Given the description of an element on the screen output the (x, y) to click on. 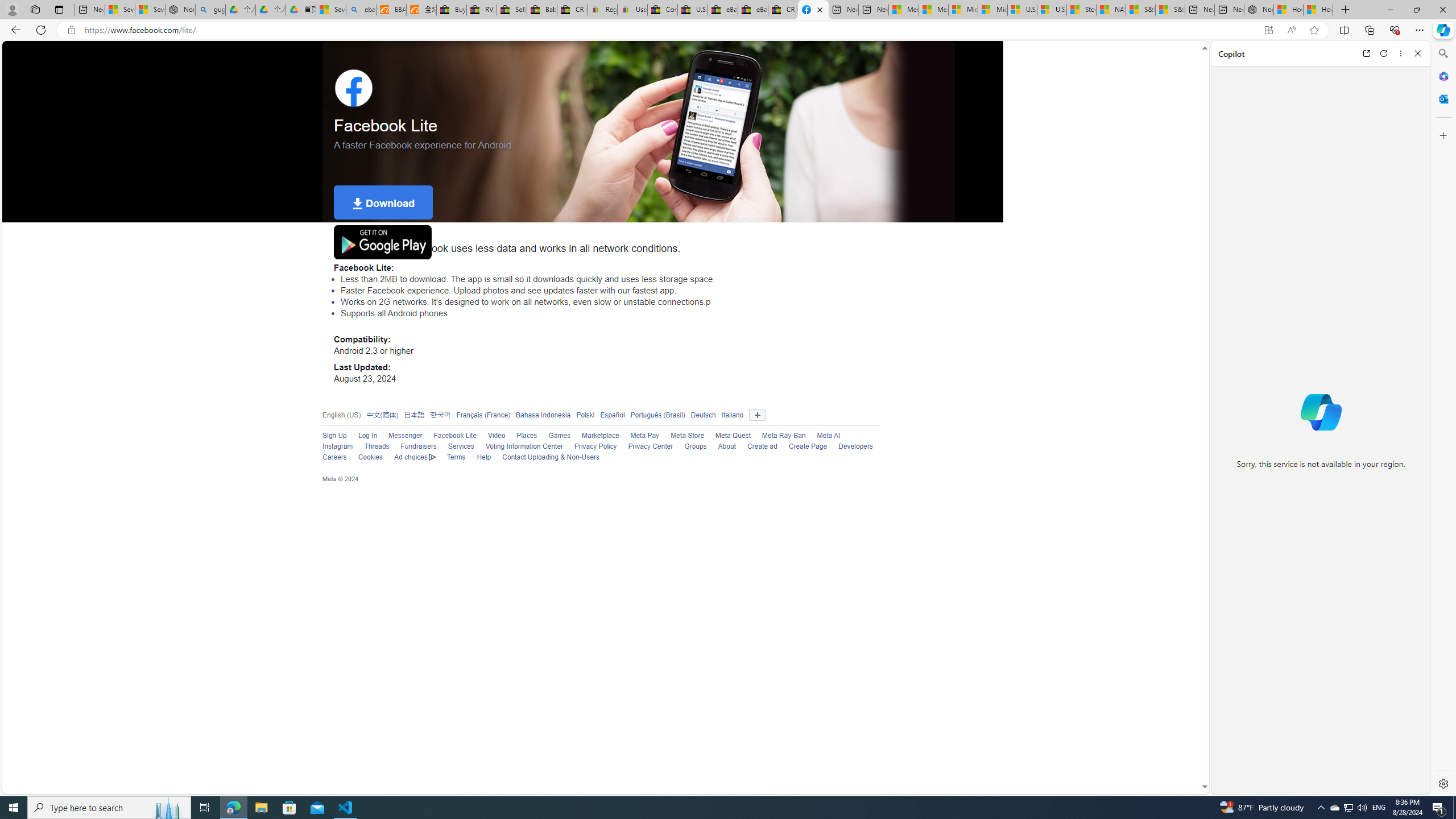
Careers (333, 456)
Threads (377, 446)
Outlook (1442, 98)
Split screen (1344, 29)
Baby Keepsakes & Announcements for sale | eBay (542, 9)
Messenger (399, 436)
Refresh (1383, 53)
Consumer Health Data Privacy Policy - eBay Inc. (662, 9)
Contact Uploading & Non-Users (544, 457)
Meta Pay (638, 436)
Meta Pay (644, 435)
Add this page to favorites (Ctrl+D) (1314, 29)
